Given the description of an element on the screen output the (x, y) to click on. 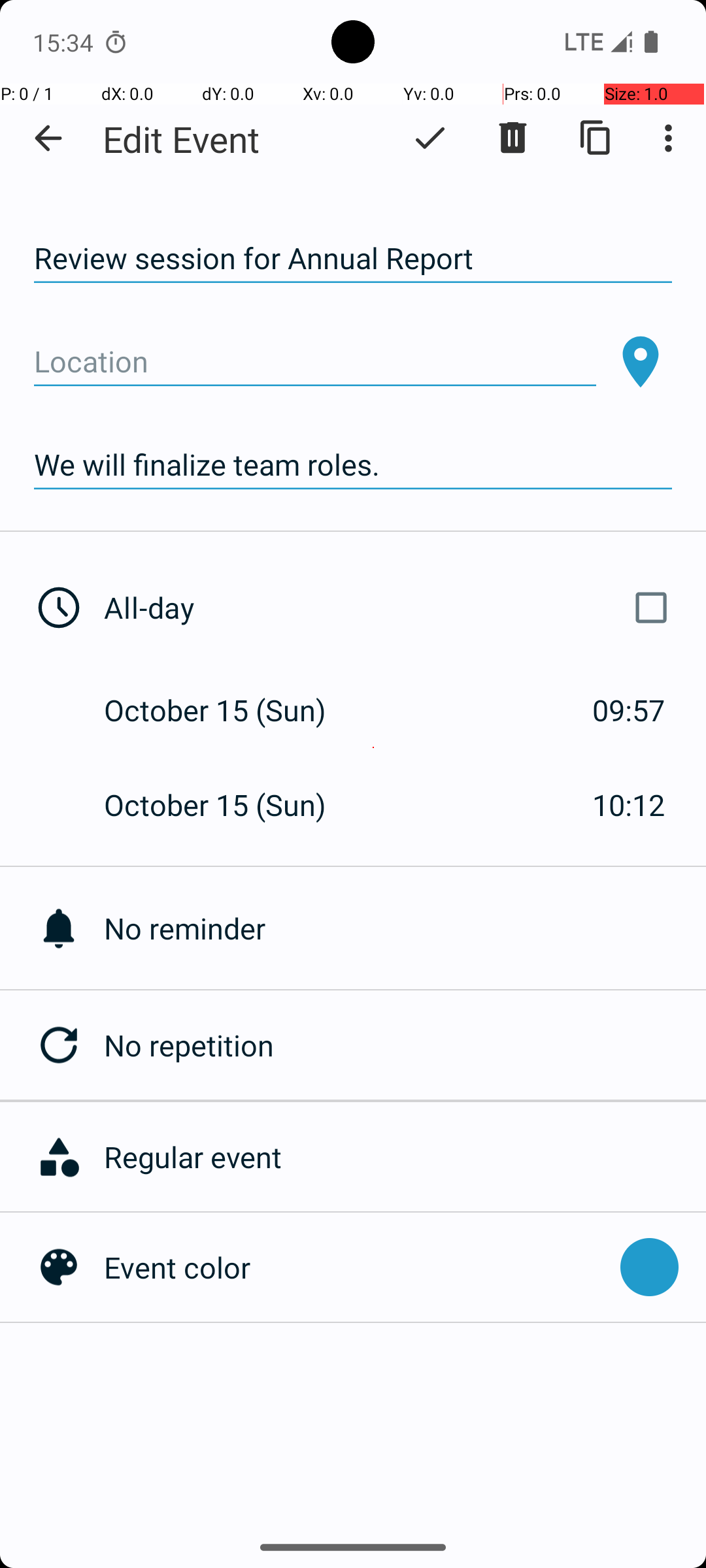
We will finalize team roles. Element type: android.widget.EditText (352, 465)
09:57 Element type: android.widget.TextView (628, 709)
10:12 Element type: android.widget.TextView (628, 804)
